Given the description of an element on the screen output the (x, y) to click on. 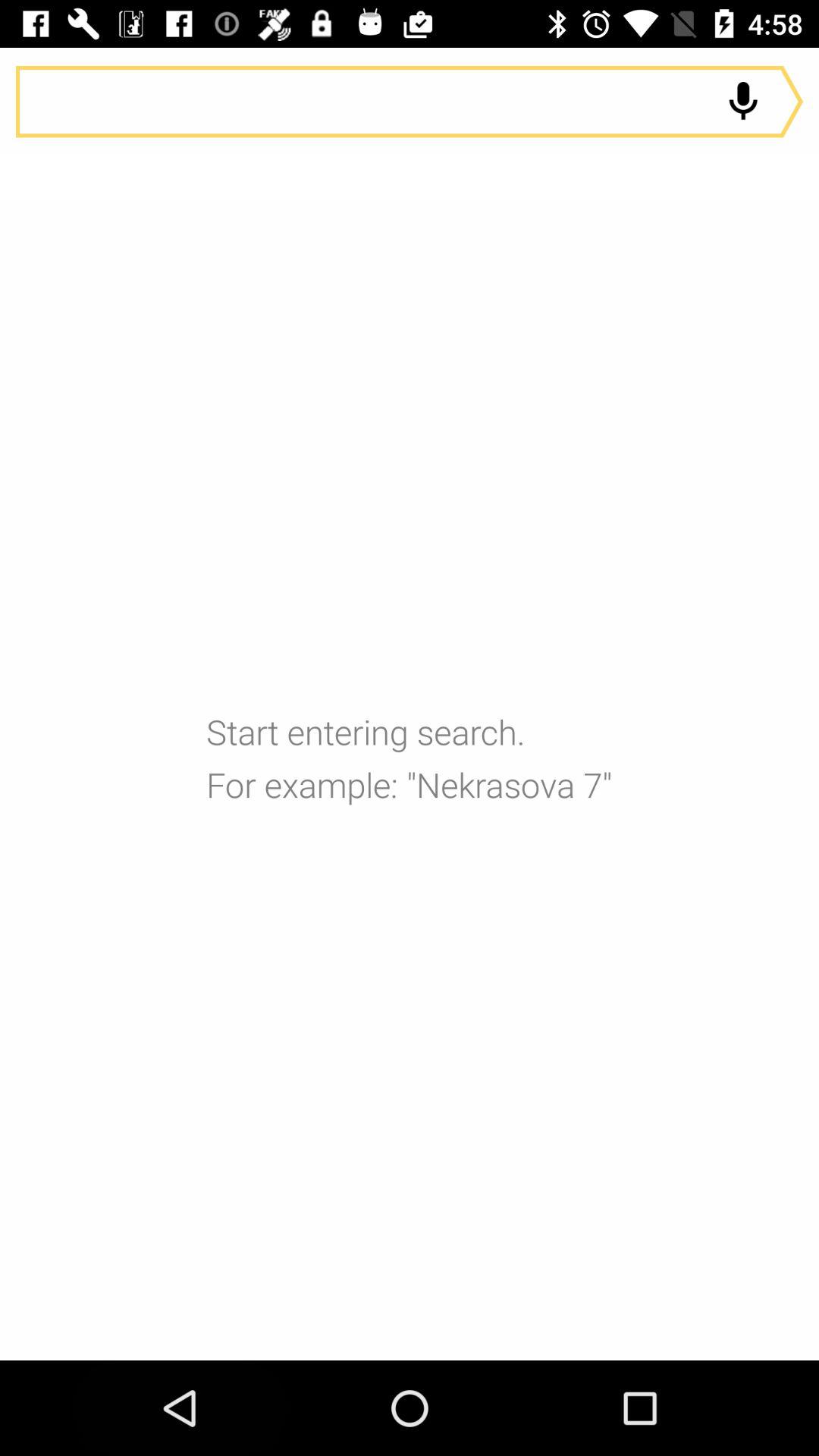
press to talk (743, 101)
